Given the description of an element on the screen output the (x, y) to click on. 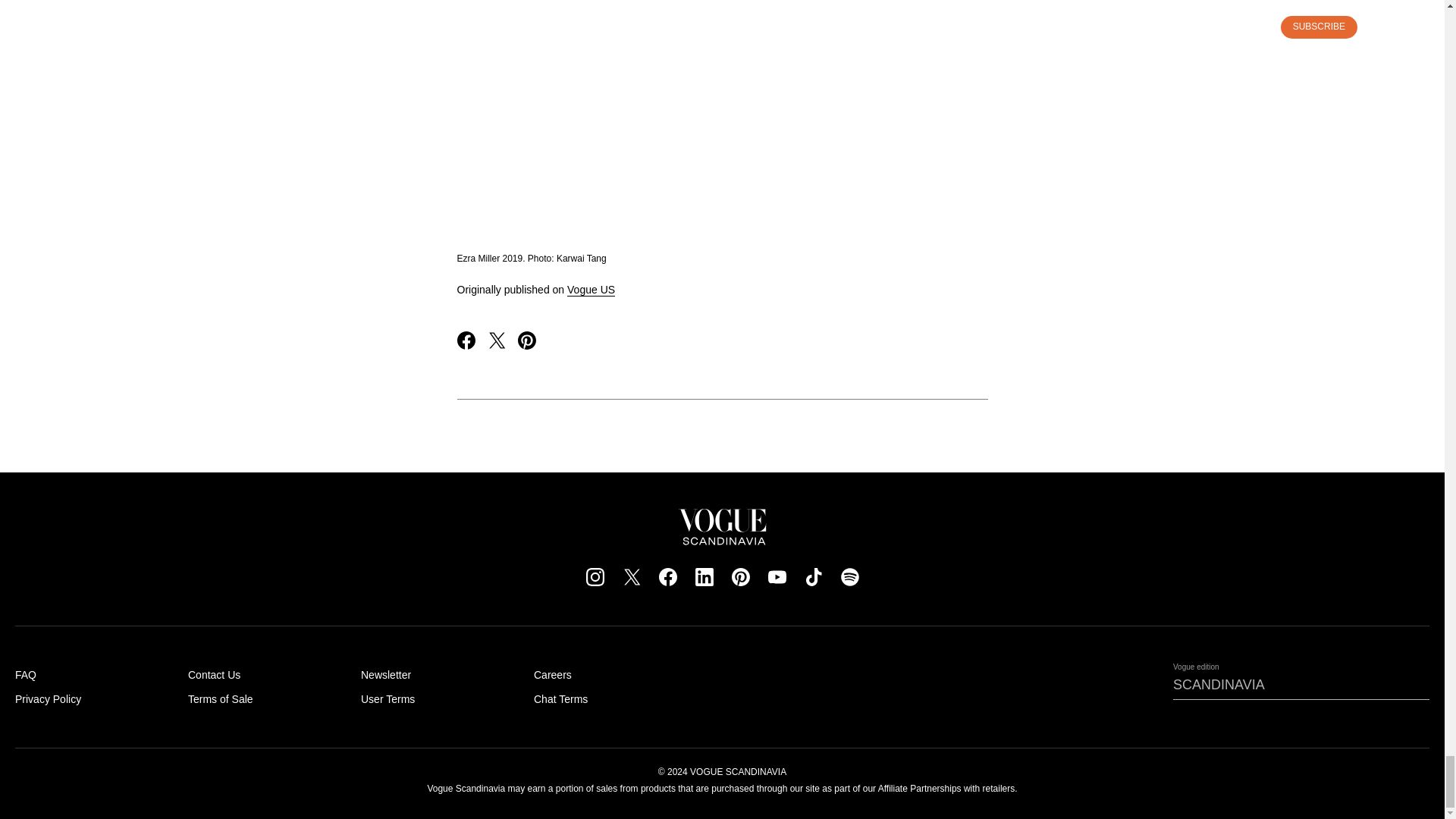
Newsletter (385, 674)
Privacy Policy (47, 698)
FAQ (25, 674)
Careers (553, 674)
User Terms (387, 698)
Terms of Sale (220, 698)
Chat Terms (561, 698)
Contact Us (213, 674)
Vogue US (590, 289)
